Given the description of an element on the screen output the (x, y) to click on. 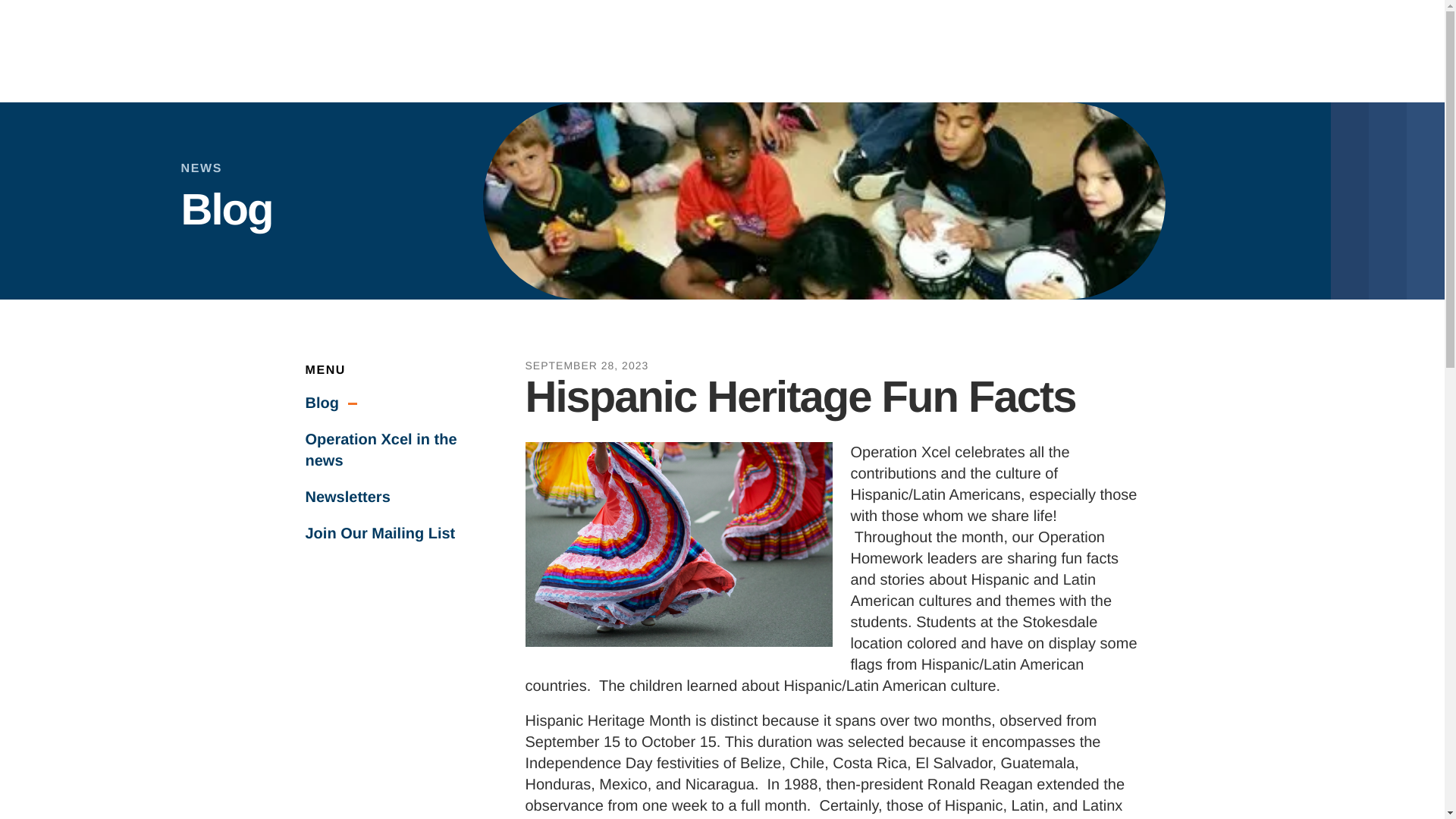
Join Our Mailing List (385, 533)
Blog (385, 402)
Newsletters (385, 497)
Operation Xcel in the news (385, 450)
